Given the description of an element on the screen output the (x, y) to click on. 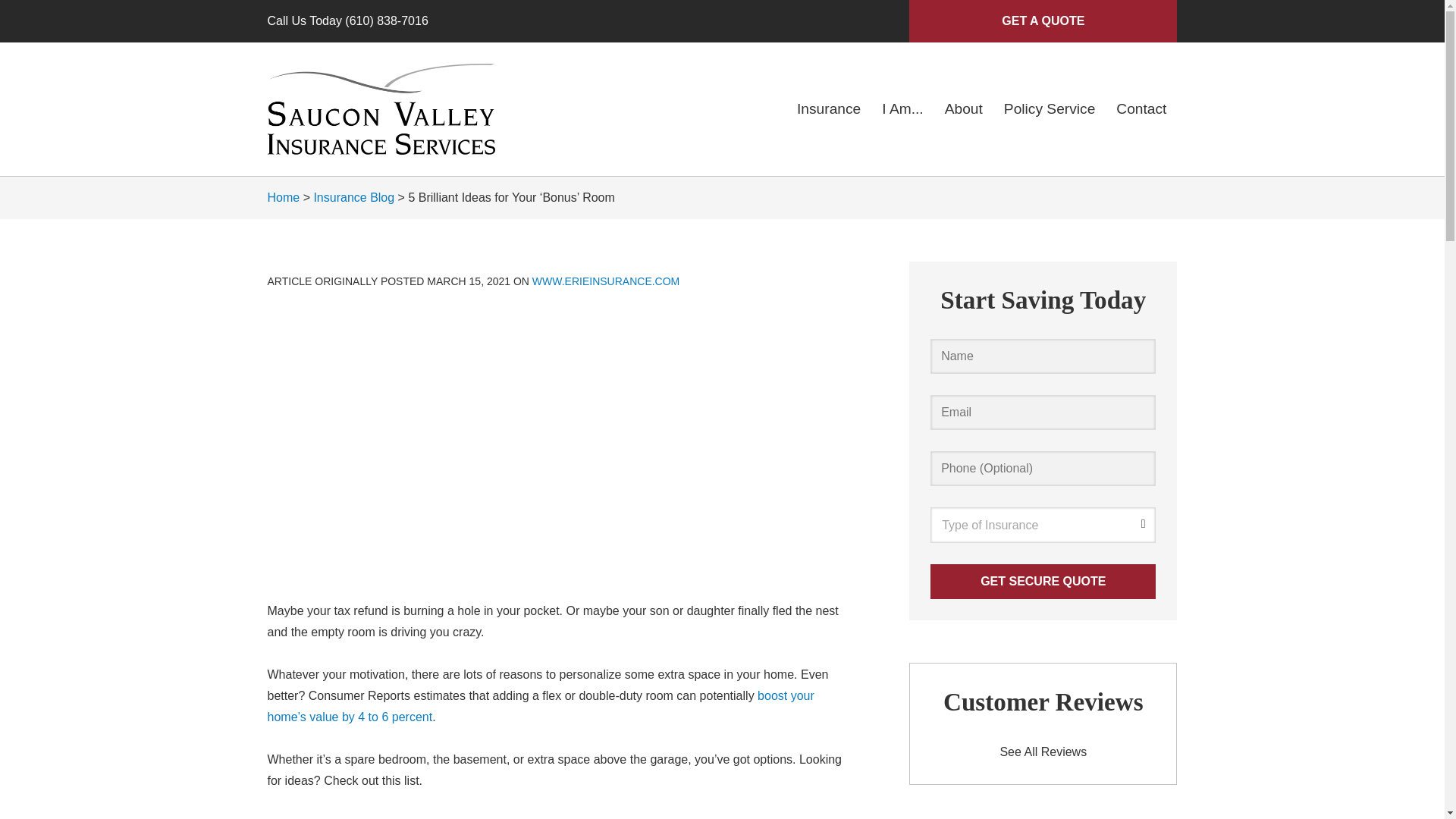
Insurance (828, 108)
logo-large (380, 108)
I Am... (901, 108)
Get Secure Quote (1043, 581)
GET A QUOTE (1042, 21)
About (963, 108)
